Given the description of an element on the screen output the (x, y) to click on. 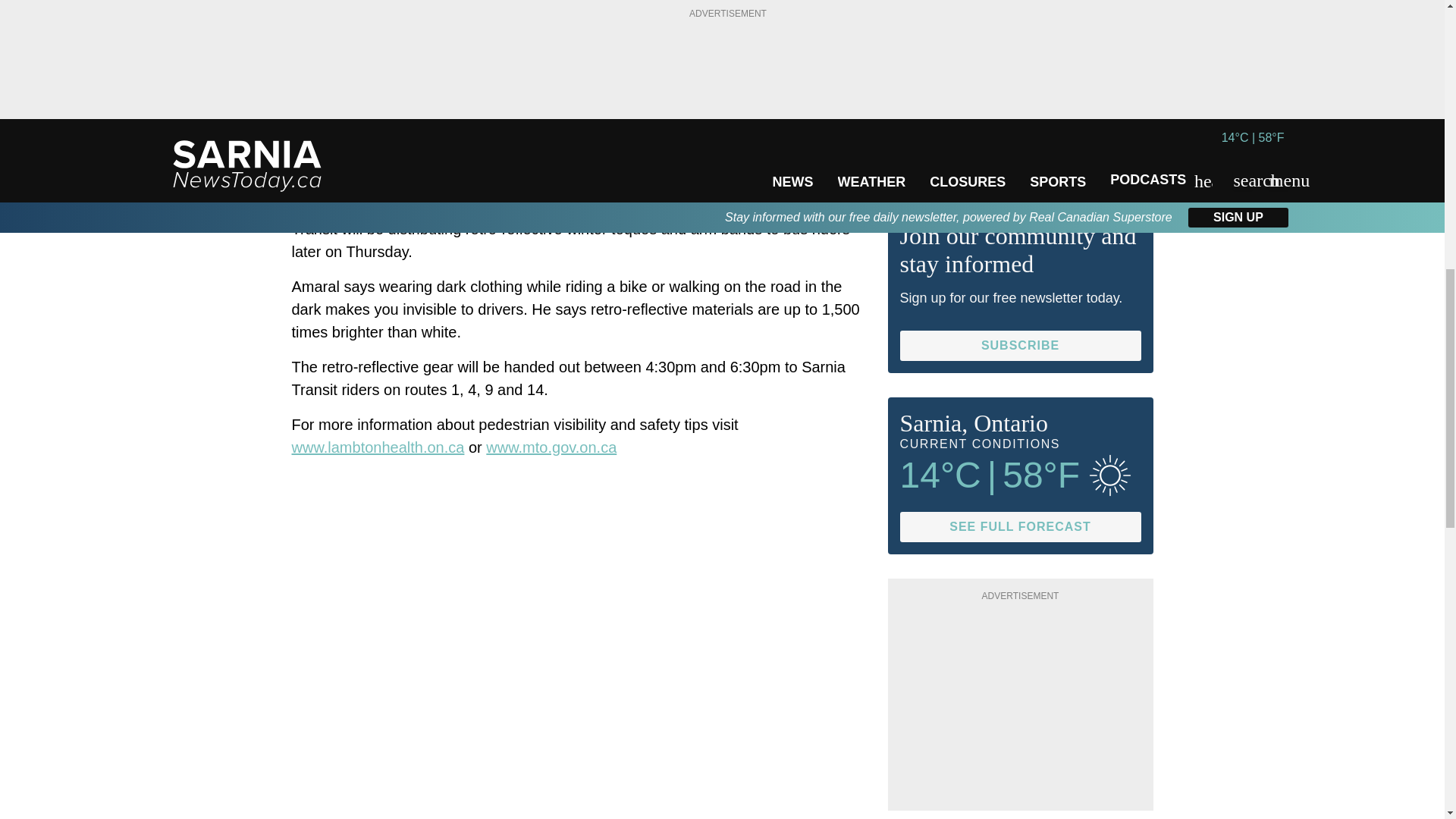
SEE FULL FORECAST (1019, 526)
SUBSCRIBE (1019, 345)
3rd party ad content (1020, 86)
3rd party ad content (1020, 703)
www.lambtonhealth.on.ca (377, 446)
www.mto.gov.on.ca (550, 446)
